Given the description of an element on the screen output the (x, y) to click on. 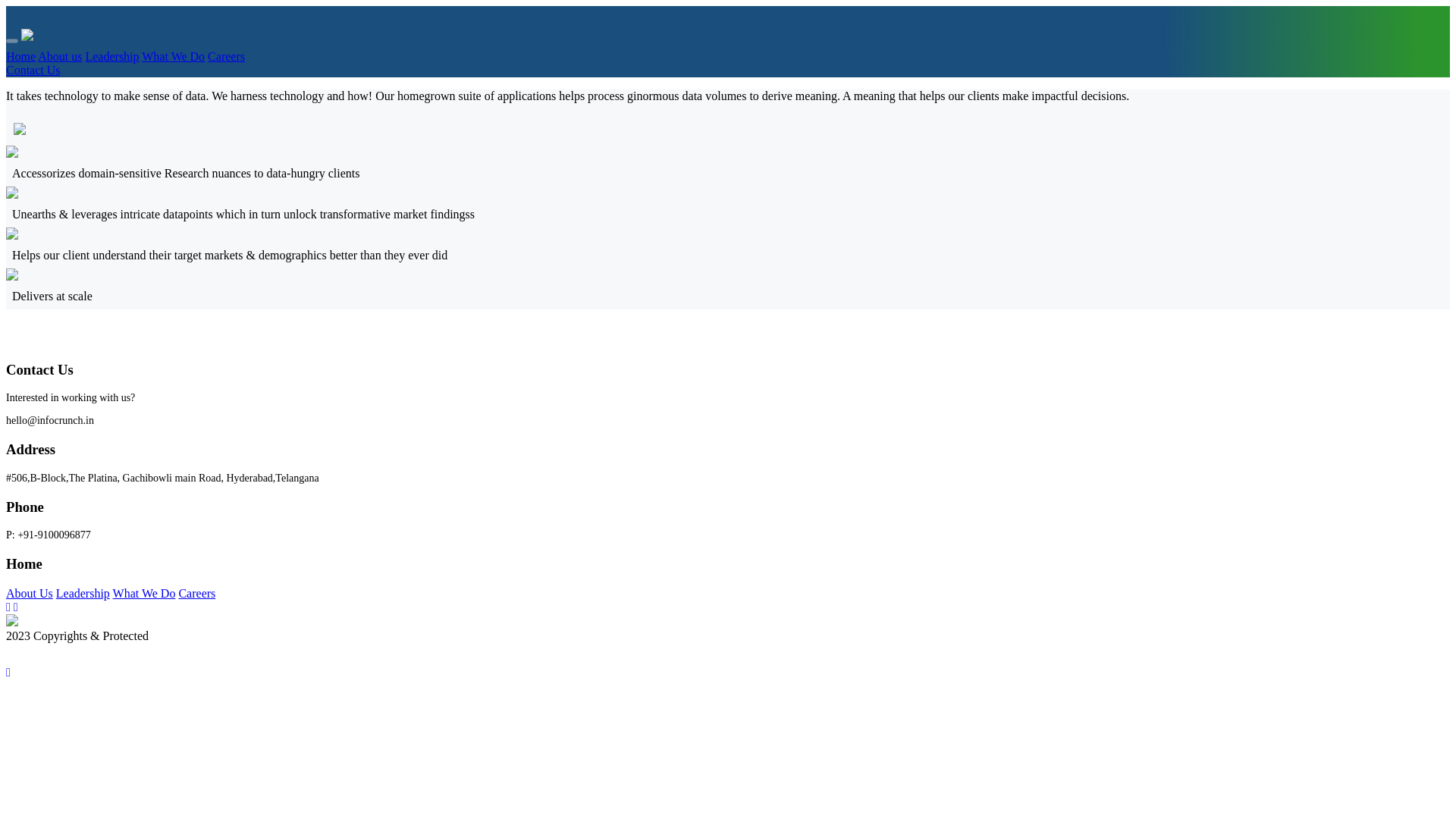
About us (59, 56)
Contact Us (33, 69)
Leadership (111, 56)
About Us (28, 593)
Careers (226, 56)
Careers (196, 593)
What We Do (144, 593)
What We Do (173, 56)
Leadership (83, 593)
Home (19, 56)
